Given the description of an element on the screen output the (x, y) to click on. 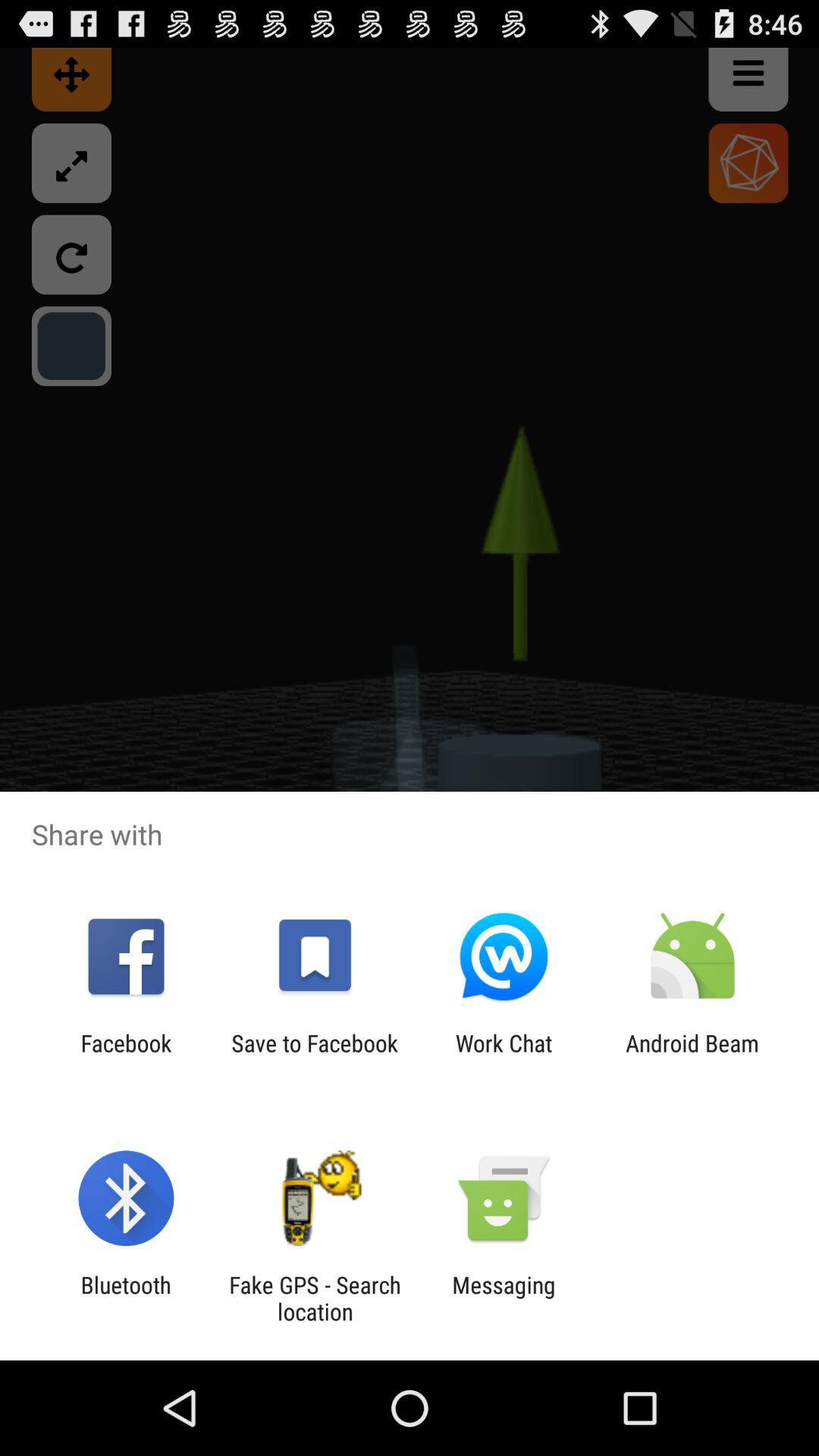
click item next to the facebook app (314, 1056)
